Given the description of an element on the screen output the (x, y) to click on. 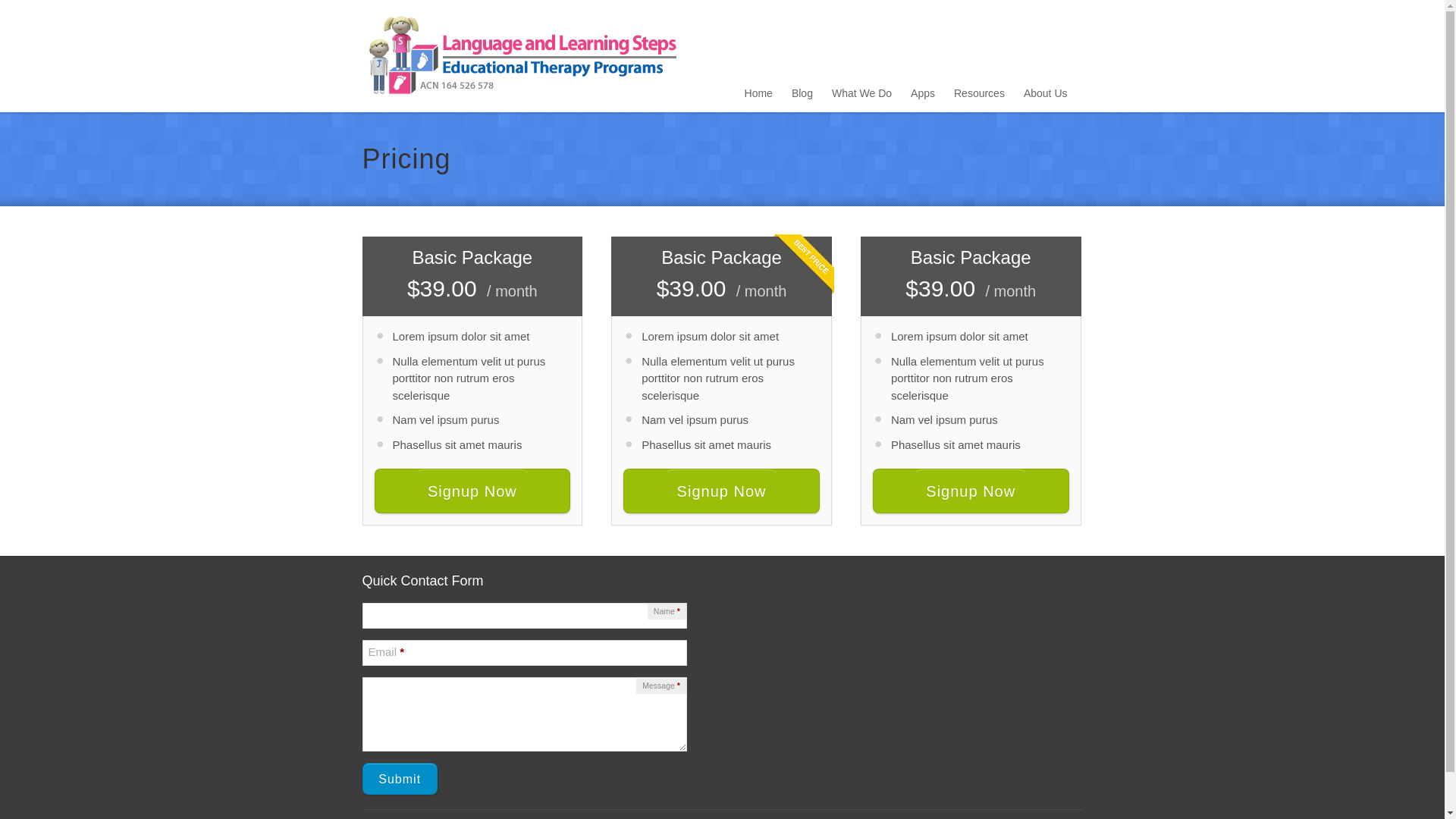
Blog Element type: text (801, 94)
What We Do Element type: text (861, 94)
Signup Now Element type: text (970, 490)
Apps Element type: text (922, 94)
Resources Element type: text (978, 94)
Signup Now Element type: text (721, 490)
Signup Now Element type: text (472, 490)
About Us Element type: text (1045, 94)
Home Element type: text (758, 94)
Language and Learning Steps Element type: hover (521, 55)
Submit Element type: text (399, 778)
